Given the description of an element on the screen output the (x, y) to click on. 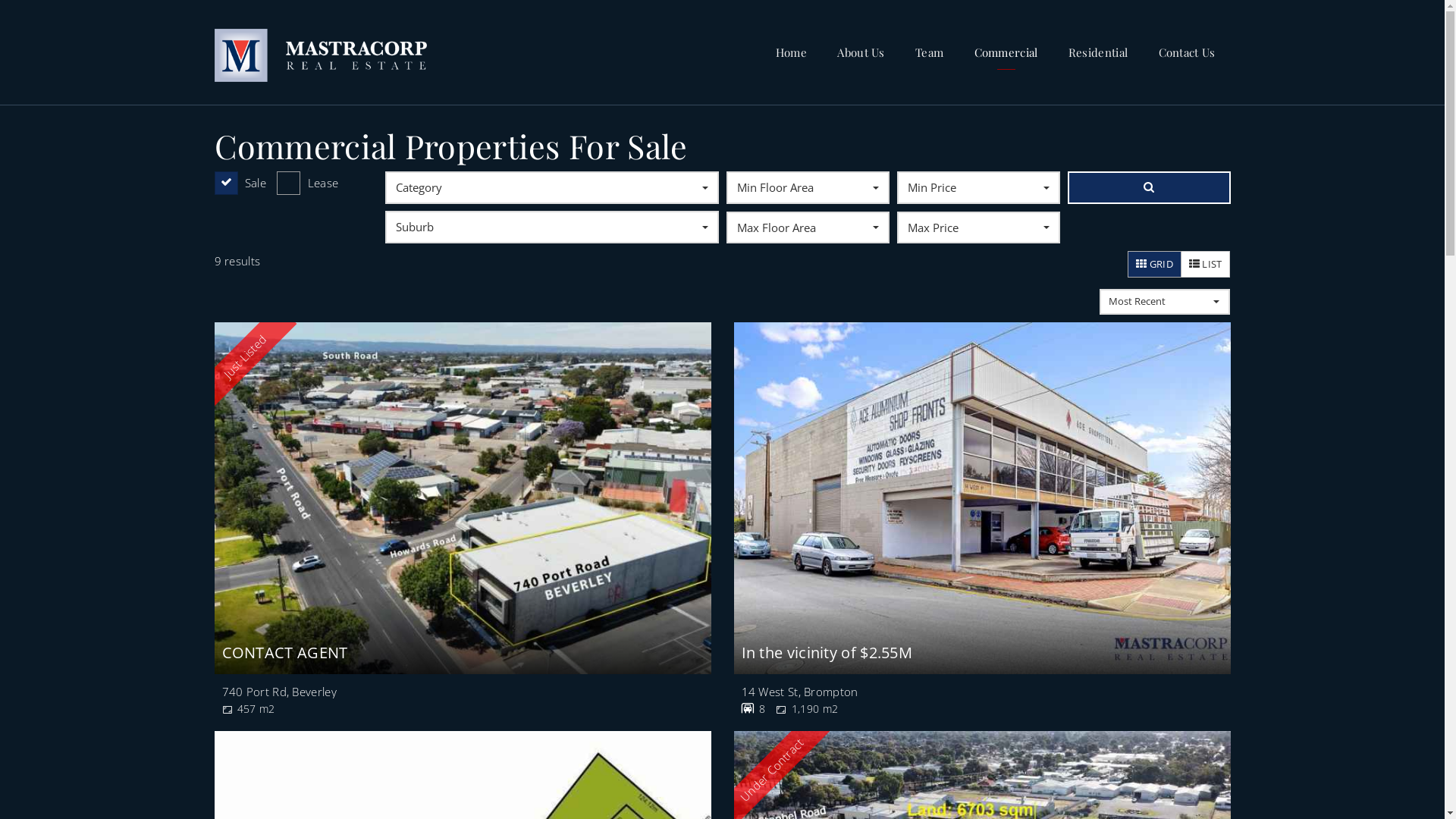
Min Floor Area
  Element type: text (807, 187)
Team Element type: text (929, 51)
Max Floor Area
  Element type: text (807, 227)
Lease Element type: text (307, 182)
Home Element type: text (791, 51)
Max Price
  Element type: text (977, 227)
Commercial Element type: text (1006, 51)
About Us Element type: text (860, 51)
Residential Element type: text (1097, 51)
Min Price
  Element type: text (977, 187)
Category
  Element type: text (551, 187)
Most Recent
  Element type: text (1164, 301)
Suburb
  Element type: text (551, 226)
Sale Element type: text (239, 182)
Mastracorp Real Estate Element type: hover (319, 50)
Contact Us Element type: text (1186, 51)
